Given the description of an element on the screen output the (x, y) to click on. 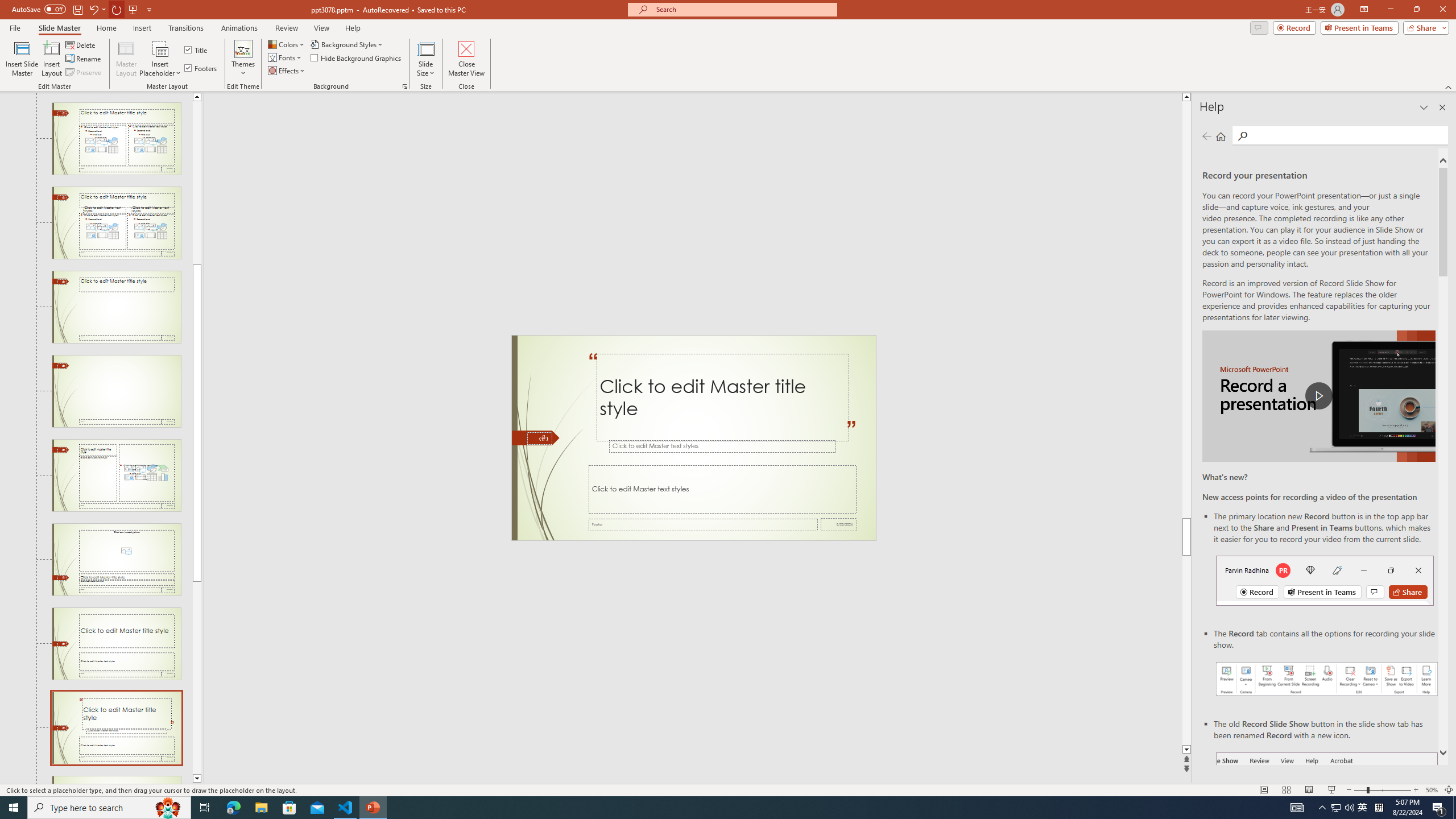
Slide Two Content Layout: used by no slides (116, 138)
Themes (243, 58)
Master Layout... (126, 58)
Content (160, 48)
Effects (287, 69)
Zoom 50% (1431, 790)
Hide Background Graphics (356, 56)
Record your presentations screenshot one (1326, 678)
TextBox (722, 489)
